Given the description of an element on the screen output the (x, y) to click on. 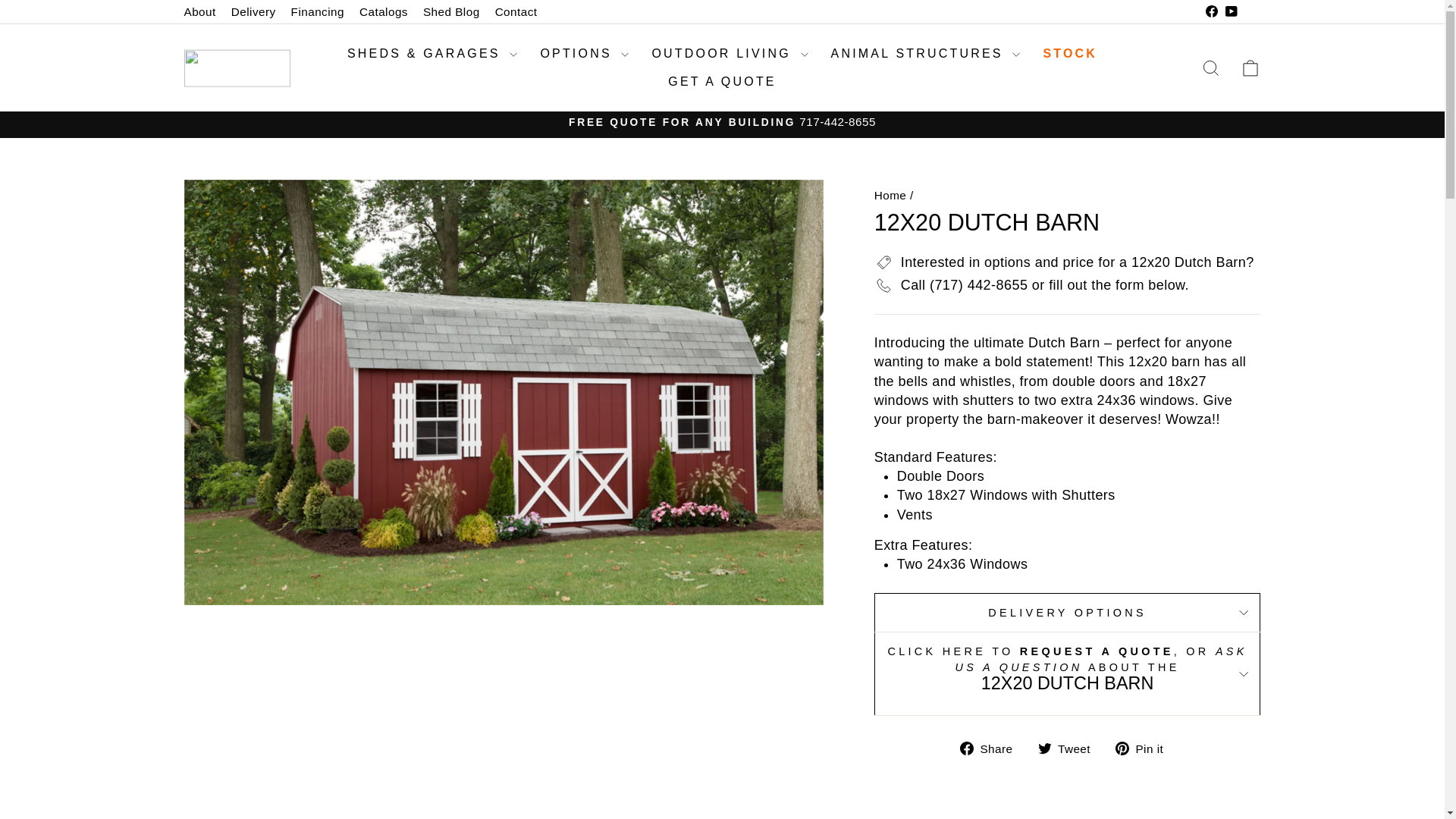
ICON-SEARCH (1210, 67)
Riehl Quality Storage Barns on Houzz (1250, 12)
Pin on Pinterest (1144, 747)
Tweet on Twitter (1069, 747)
ICON-BAG-MINIMAL (1249, 67)
Share on Facebook (992, 747)
twitter (1043, 748)
Back to the frontpage (891, 195)
